Given the description of an element on the screen output the (x, y) to click on. 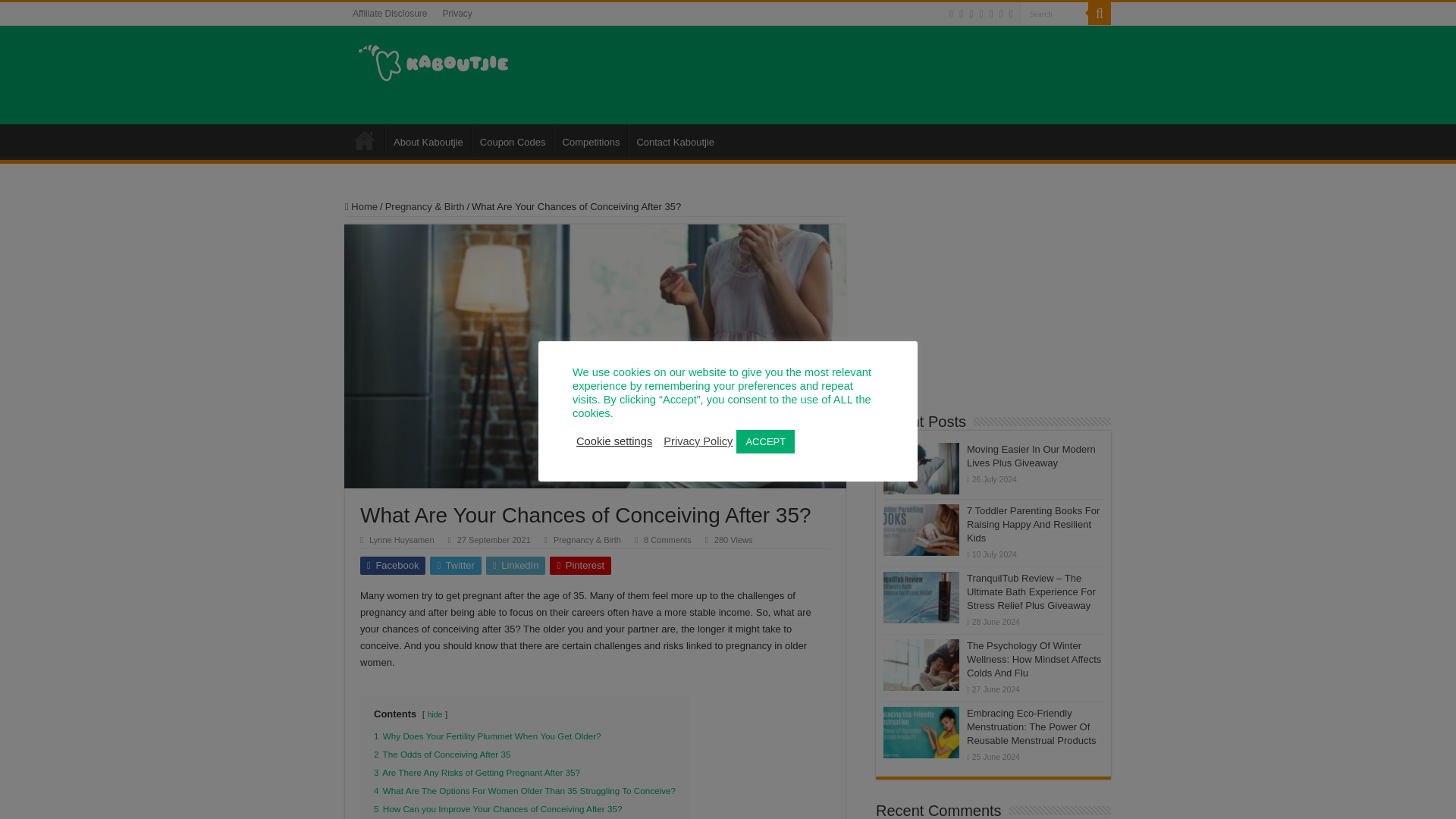
Twitter (454, 565)
Competitions (590, 140)
About Kaboutjie (427, 140)
Search (1053, 13)
Facebook (392, 565)
Lynne Huysamen (401, 539)
Search (1098, 13)
Home (361, 206)
Coupon Codes (512, 140)
8 Comments (667, 539)
LinkedIn (516, 565)
Affiliate Disclosure (389, 13)
Home (364, 140)
Search (1053, 13)
Search (1053, 13)
